Given the description of an element on the screen output the (x, y) to click on. 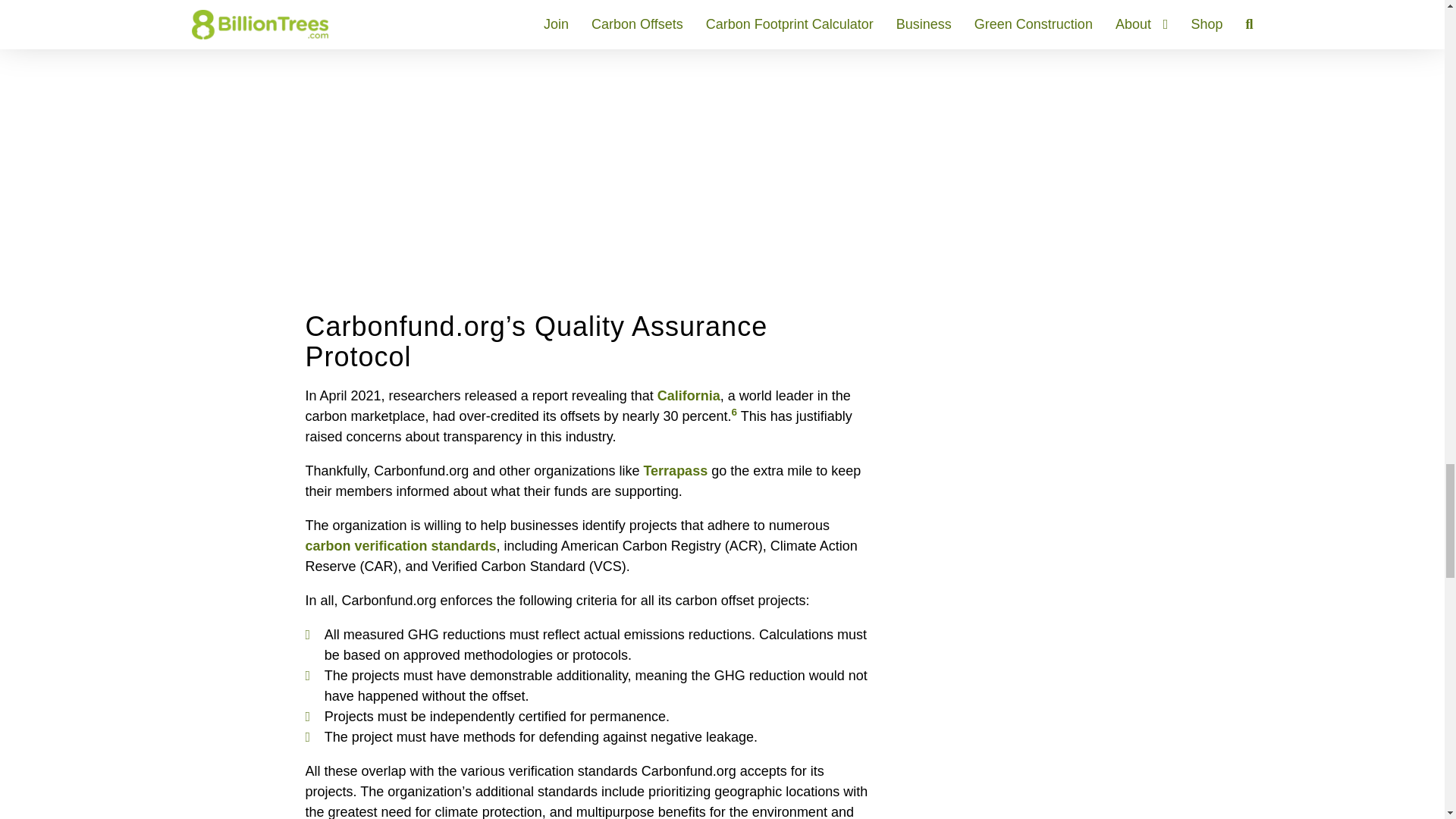
Terrapass (675, 470)
carbon verification standards (400, 545)
California (689, 395)
